Given the description of an element on the screen output the (x, y) to click on. 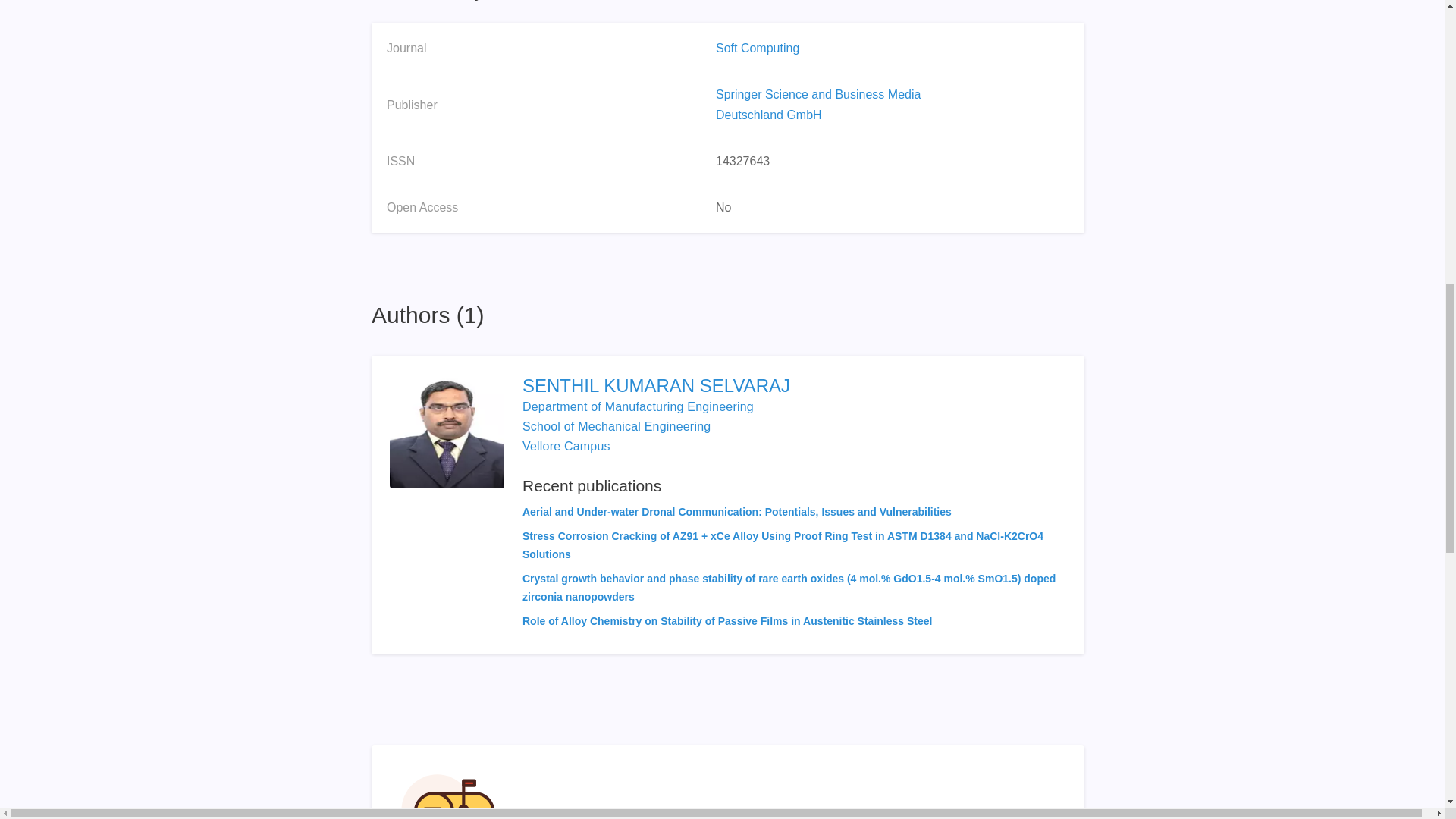
Springer Science and Business Media Deutschland GmbH (818, 104)
Vellore Campus (566, 445)
School of Mechanical Engineering (616, 426)
Soft Computing (757, 47)
SENTHIL KUMARAN SELVARAJ (793, 385)
Subscribe form hero illustration (448, 791)
Department of Manufacturing Engineering (638, 406)
